Given the description of an element on the screen output the (x, y) to click on. 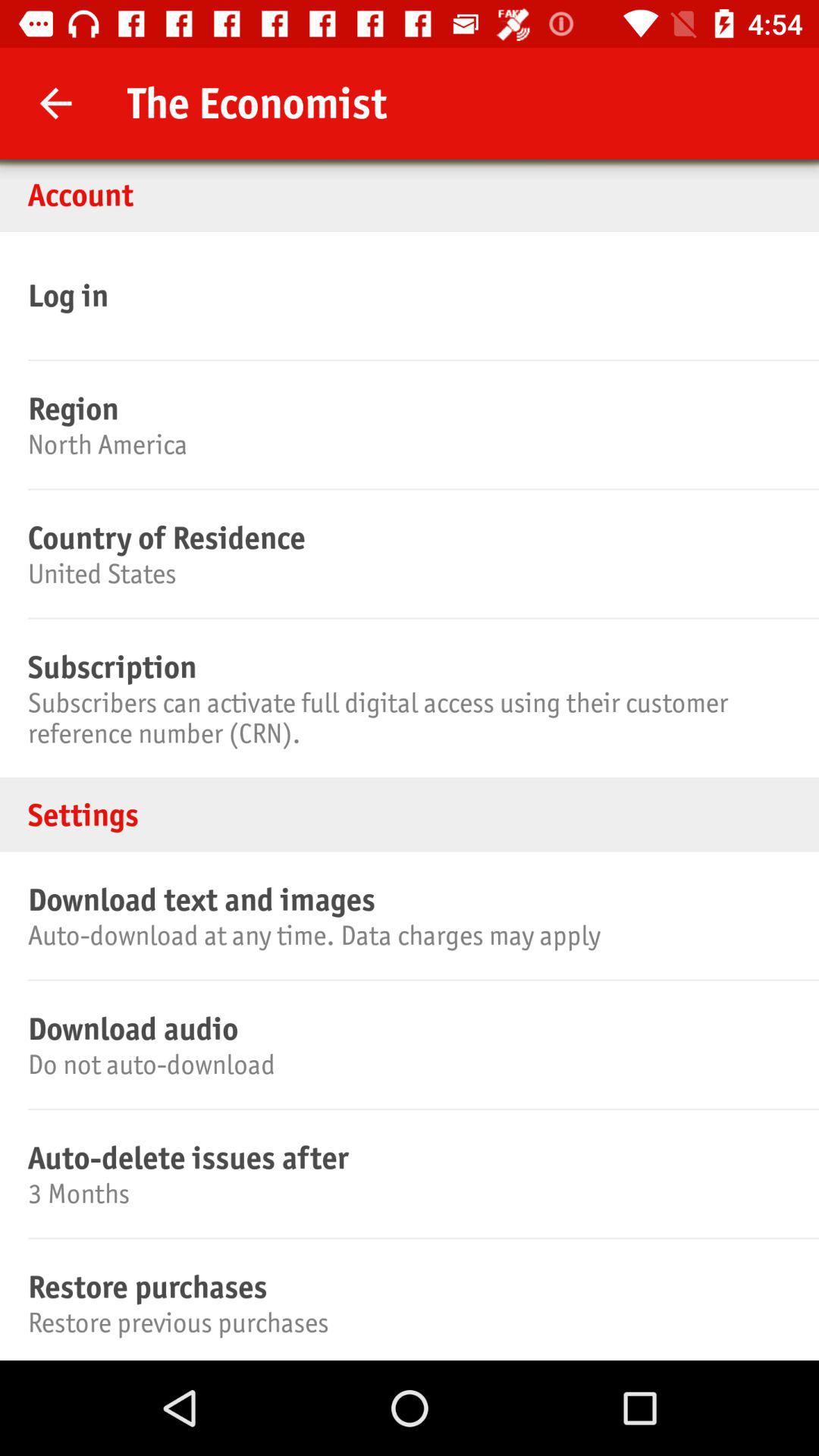
press the item above the log in (409, 194)
